Given the description of an element on the screen output the (x, y) to click on. 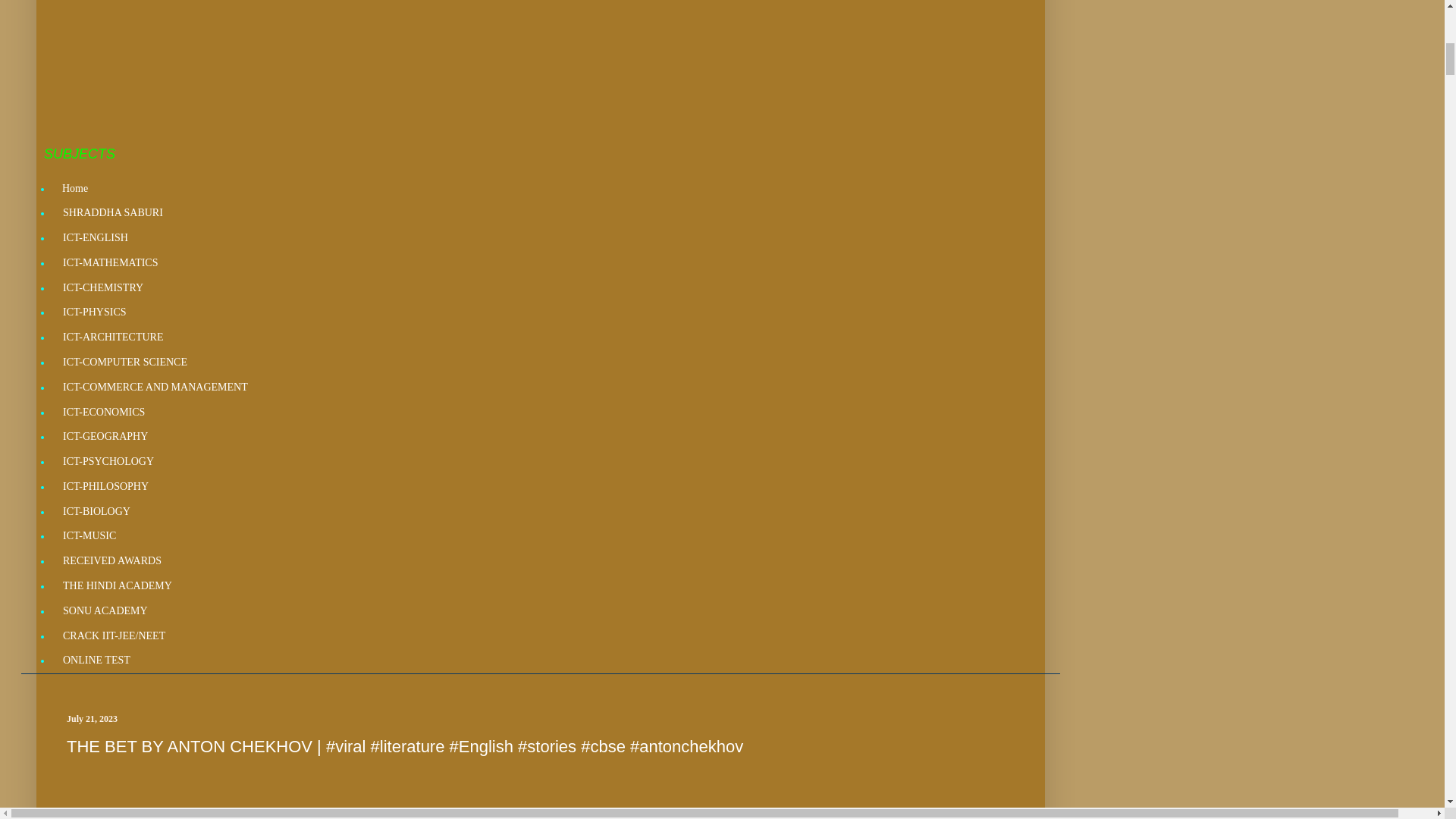
ICT-PHYSICS (93, 312)
THE HINDI ACADEMY (116, 586)
ICT-ENGLISH (94, 238)
Advertisement (498, 73)
Home (74, 188)
ICT-PSYCHOLOGY (107, 462)
ICT-COMPUTER SCIENCE (124, 362)
ICT-ECONOMICS (102, 412)
RECEIVED AWARDS (110, 561)
ICT-ARCHITECTURE (111, 337)
ICT-PHILOSOPHY (104, 487)
ICT-CHEMISTRY (102, 287)
SONU ACADEMY (104, 610)
ICT-BIOLOGY (95, 511)
ICT-COMMERCE AND MANAGEMENT (154, 386)
